Given the description of an element on the screen output the (x, y) to click on. 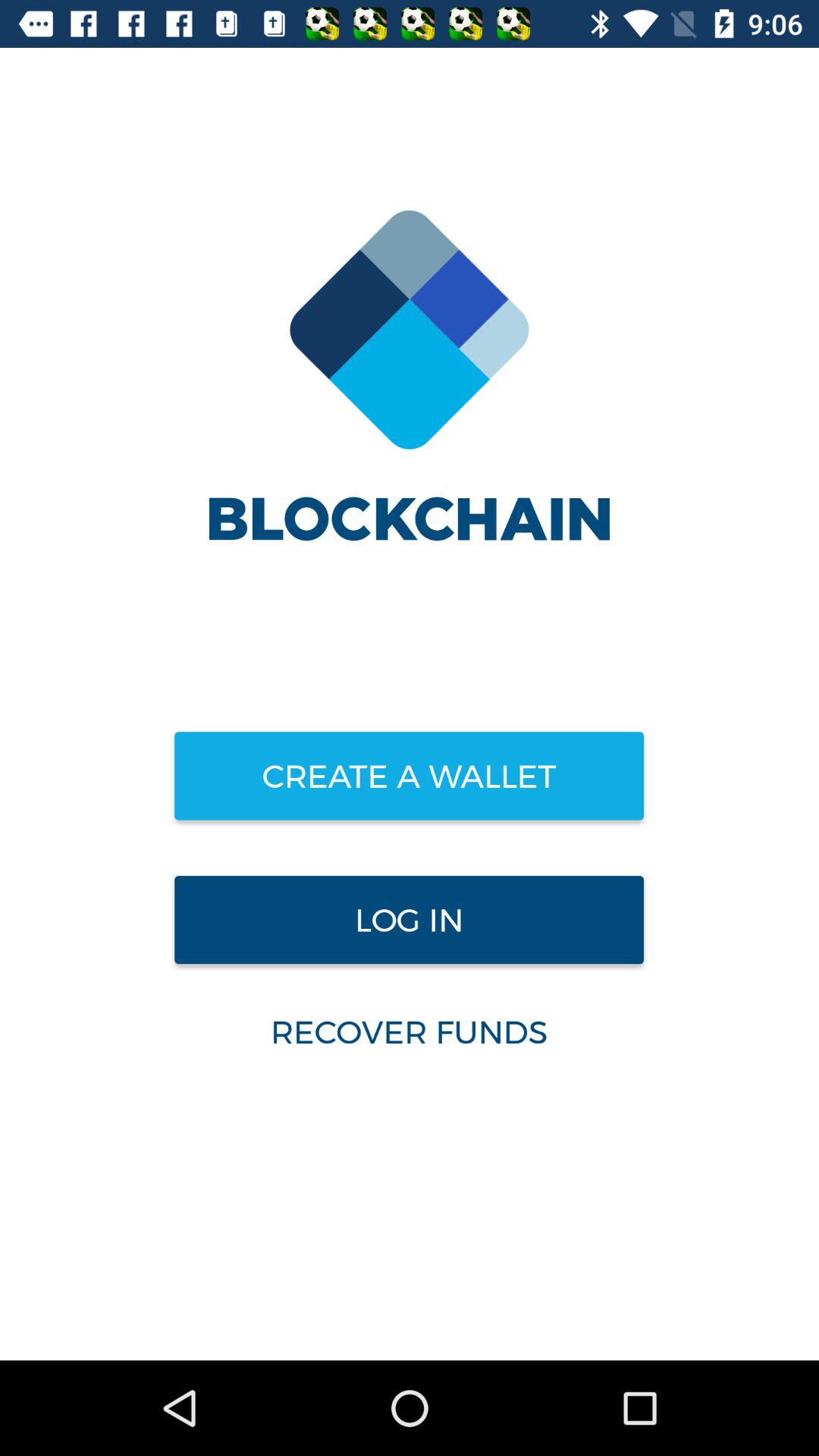
scroll until the log in icon (408, 919)
